Given the description of an element on the screen output the (x, y) to click on. 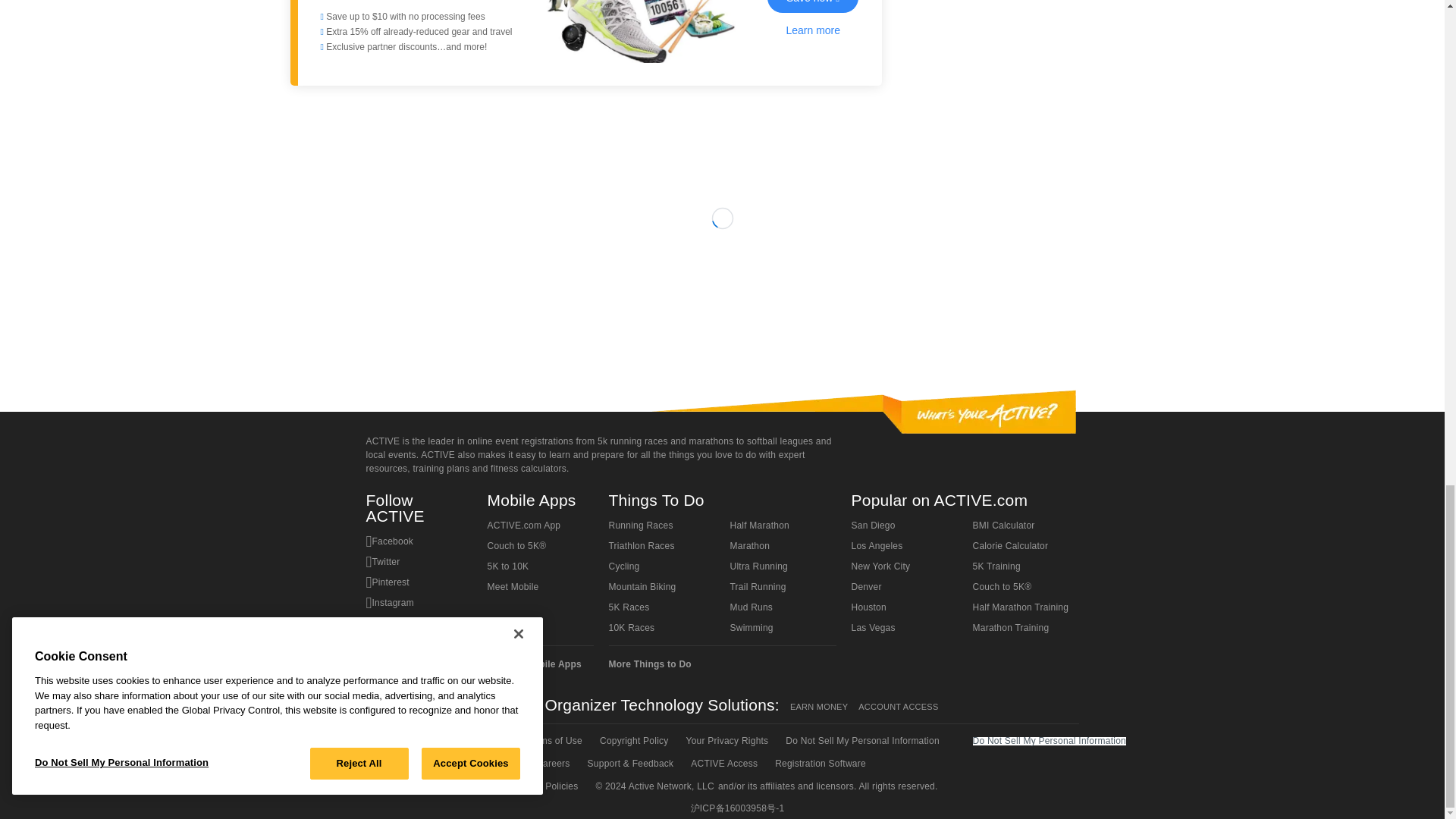
Cookie Policy (403, 763)
Your Privacy Rights: Updated (726, 740)
Copyright Policy (633, 740)
Privacy Settings (483, 763)
Terms of Use (552, 740)
Careers at Active (550, 763)
Do Not Sell My Personal Information (861, 740)
3rd party ad content (721, 301)
